Given the description of an element on the screen output the (x, y) to click on. 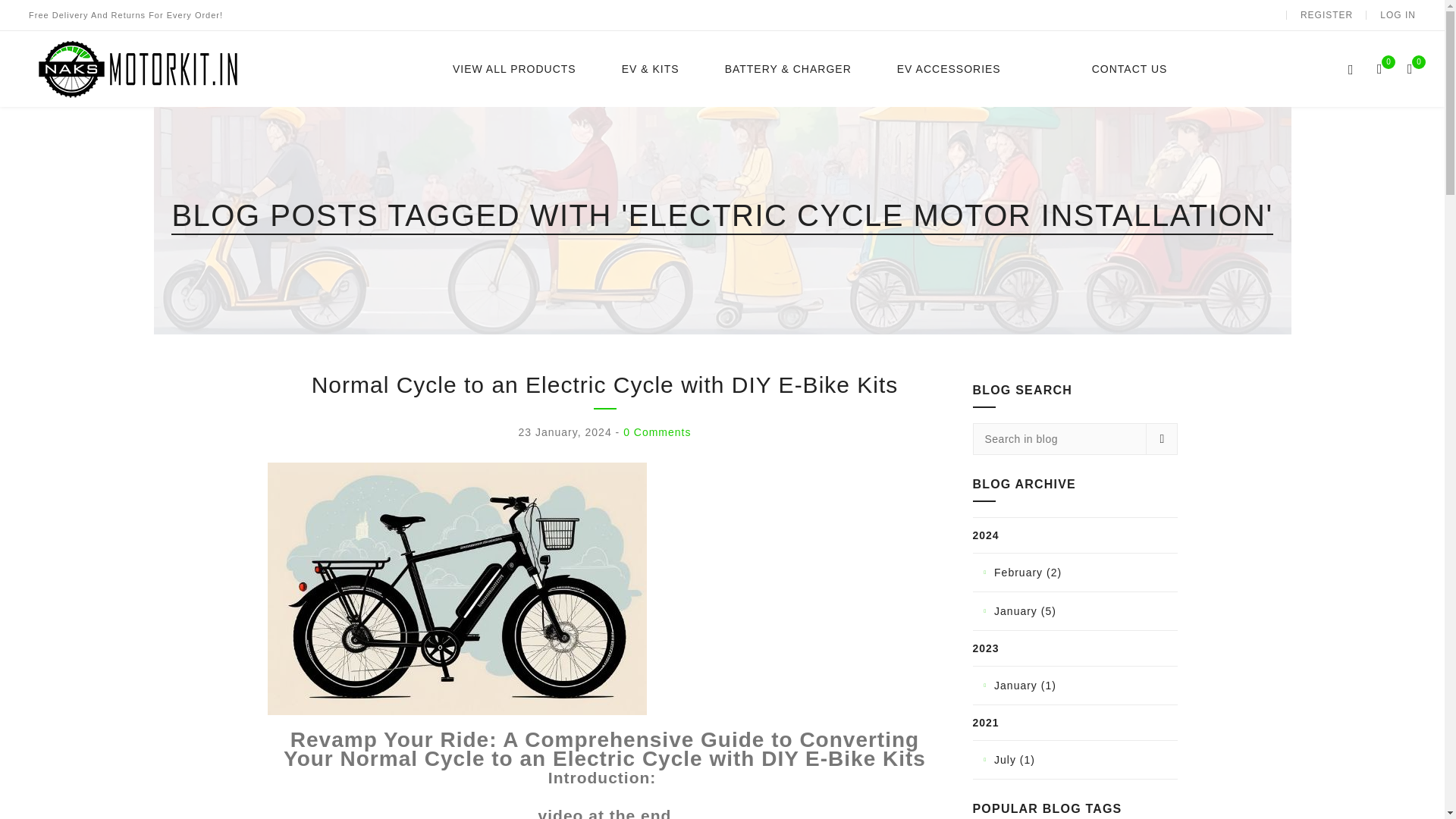
LOG IN (1397, 15)
Normal Cycle to an Electric Cycle with DIY E-Bike Kits (456, 588)
VIEW ALL PRODUCTS (514, 68)
EV ACCESSORIES (948, 68)
REGISTER (1326, 15)
